Given the description of an element on the screen output the (x, y) to click on. 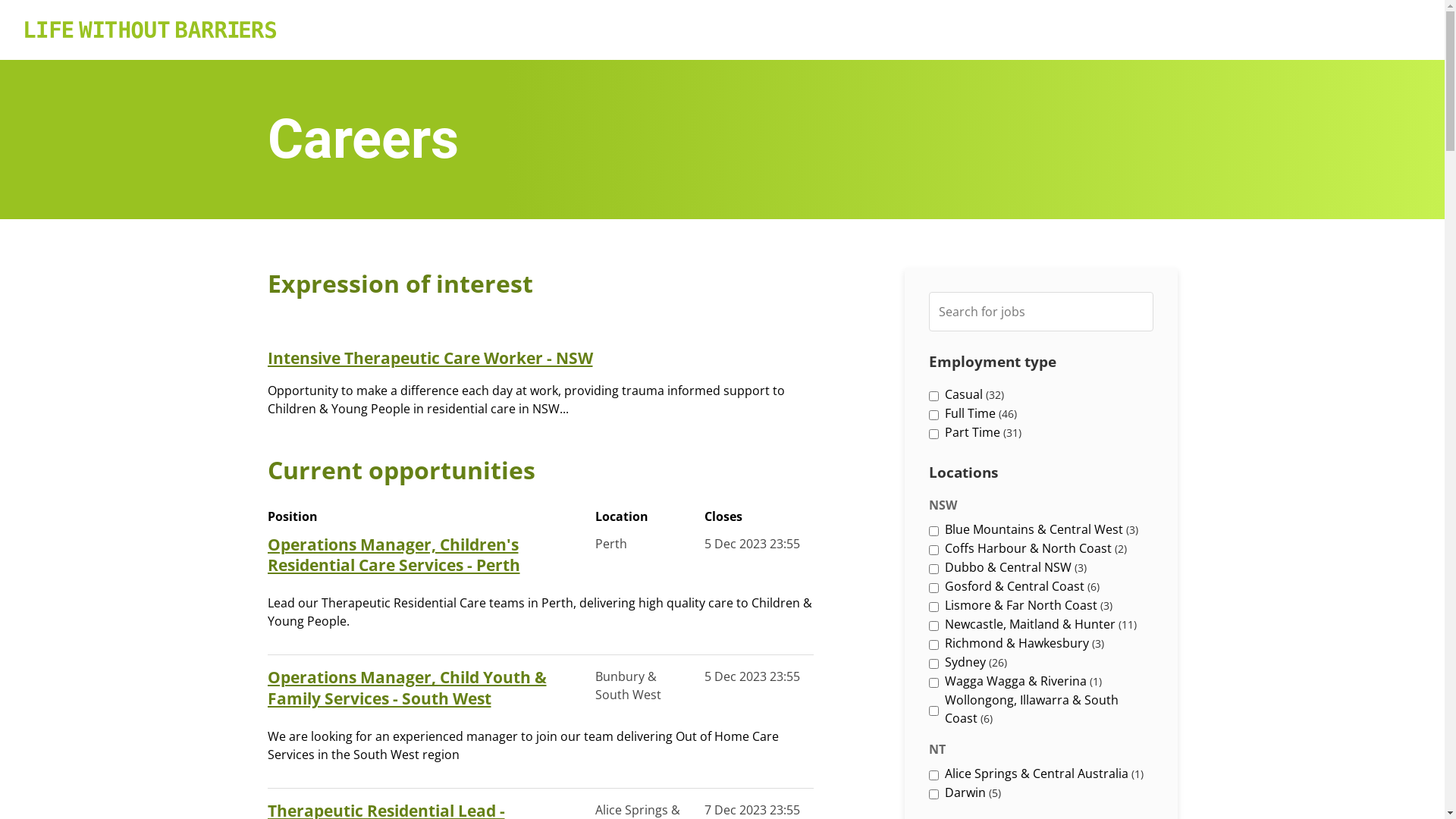
Return to Life Without Barriers Element type: hover (722, 29)
Intensive Therapeutic Care Worker - NSW Element type: text (539, 358)
